Given the description of an element on the screen output the (x, y) to click on. 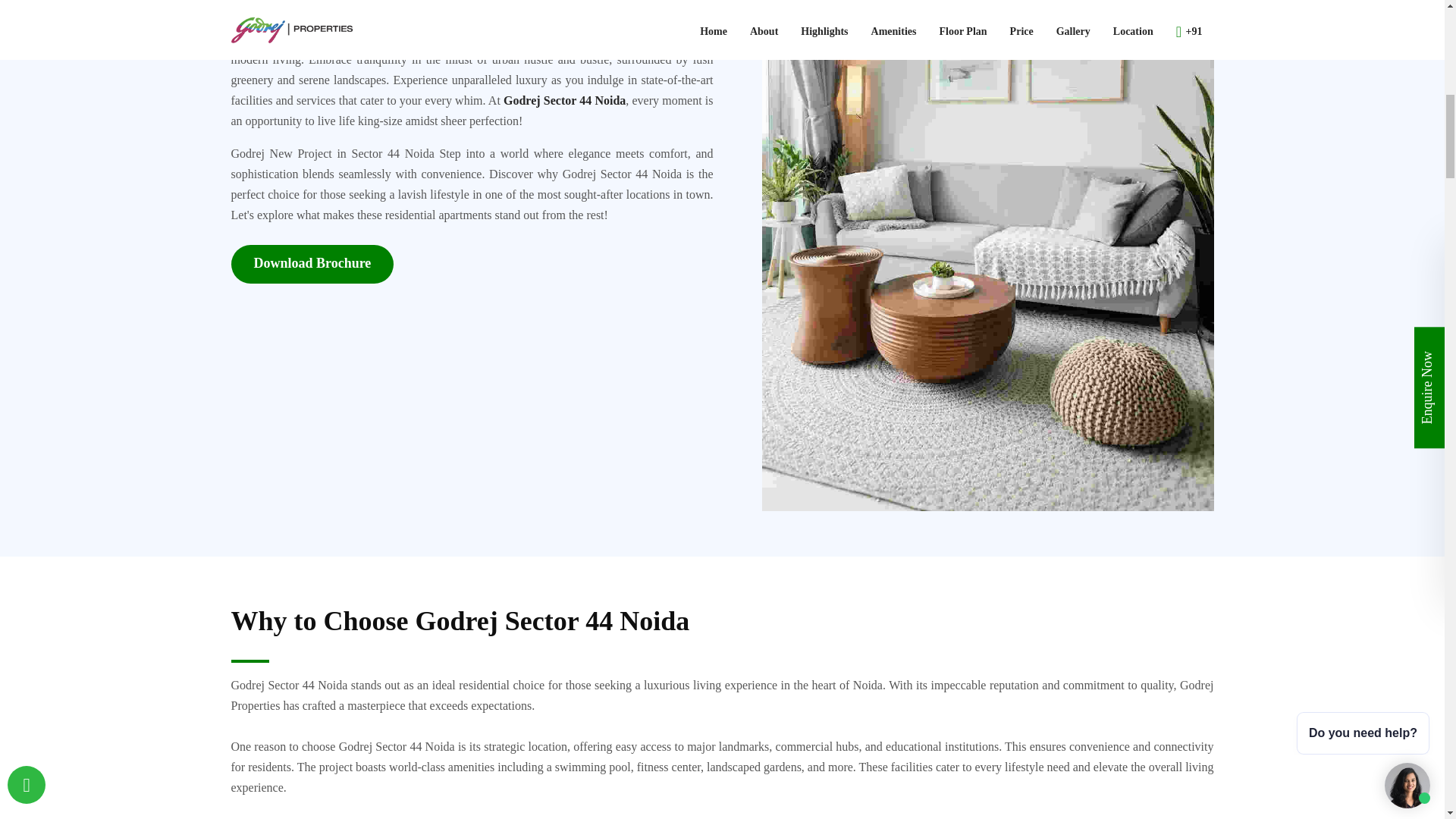
Godrej Sector 44 Noida (564, 100)
Download Brochure (311, 263)
